Given the description of an element on the screen output the (x, y) to click on. 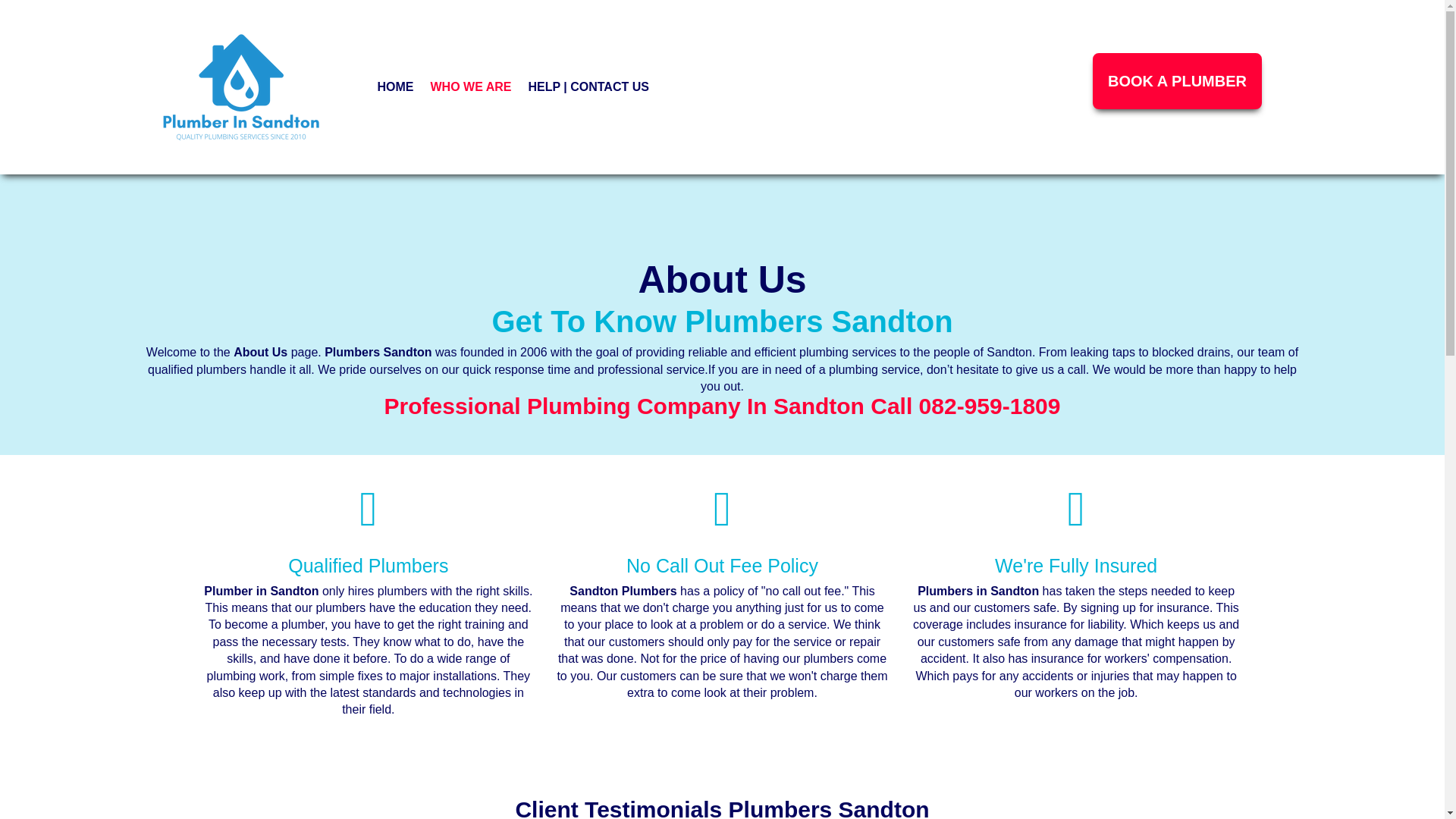
About Us (259, 351)
About Us (259, 351)
Contact (587, 87)
Plumbers Sandton (377, 351)
BOOK A PLUMBER (1177, 80)
Plumbers Sandton (377, 351)
